Given the description of an element on the screen output the (x, y) to click on. 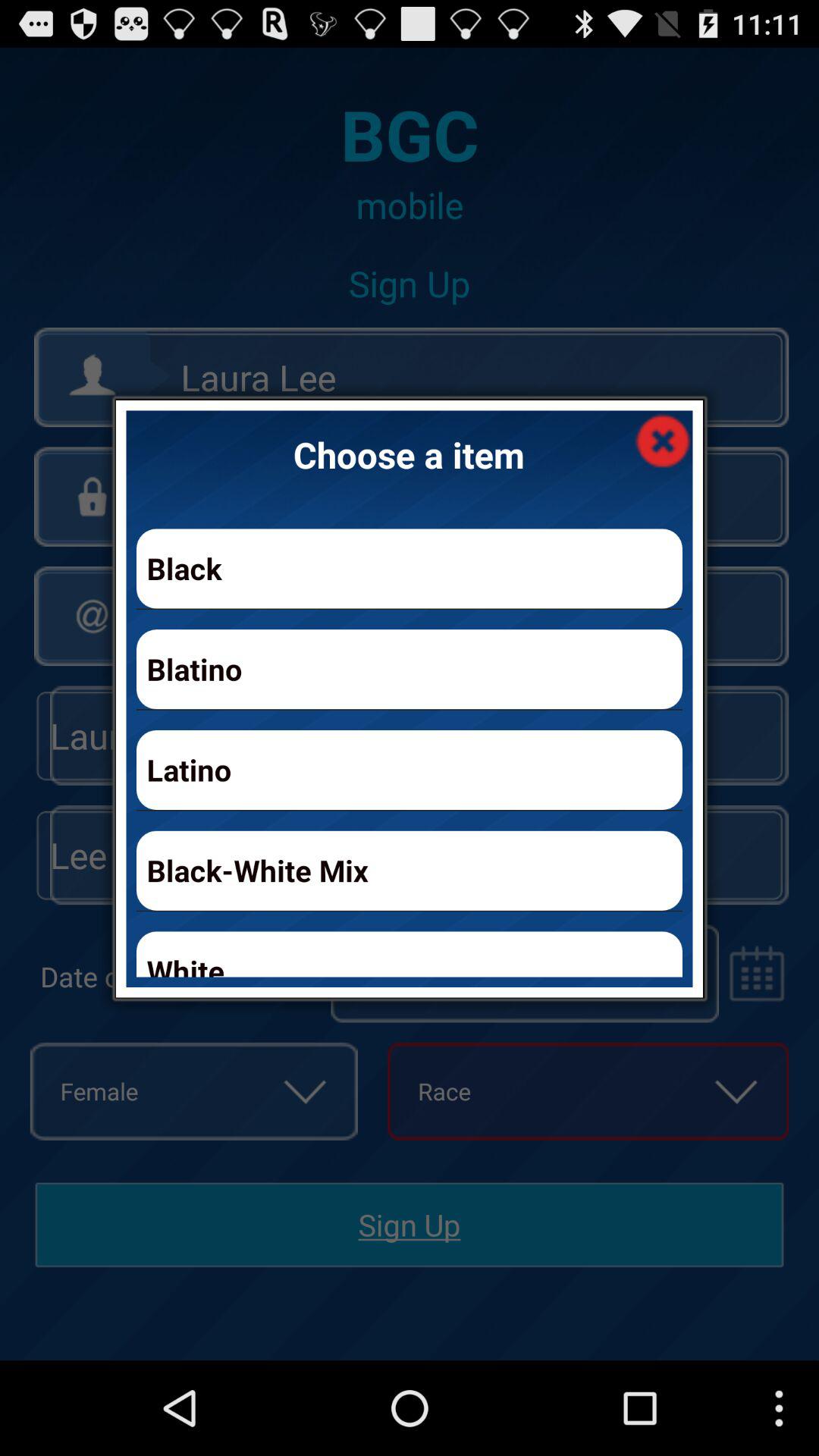
choose the latino icon (409, 769)
